Given the description of an element on the screen output the (x, y) to click on. 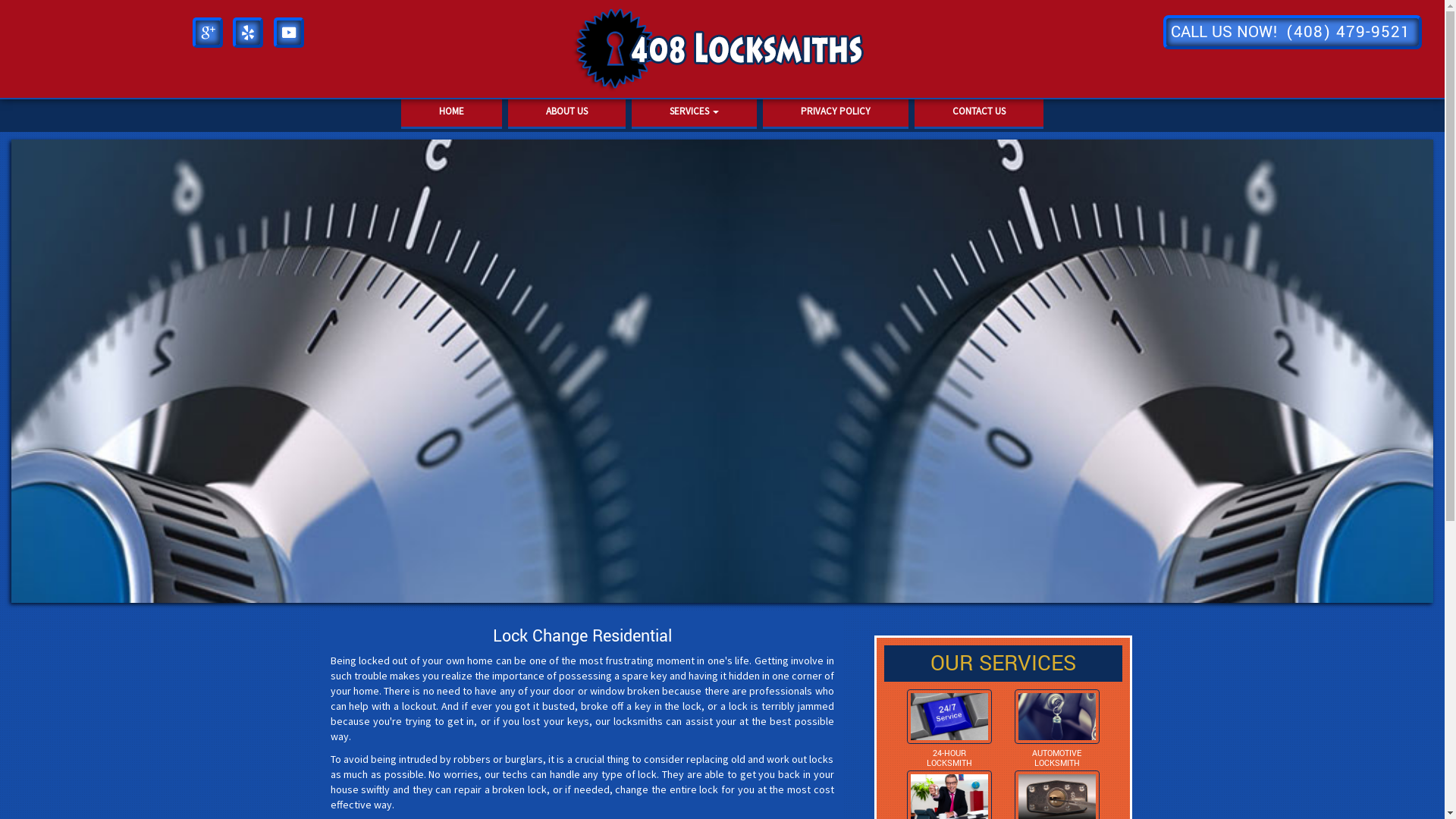
(408) 479-9521 Element type: text (1348, 31)
CONTACT US Element type: text (978, 112)
Google Plus Element type: hover (207, 29)
Youtube Element type: hover (288, 29)
24-HOUR
LOCKSMITH Element type: text (949, 757)
SERVICES Element type: text (693, 112)
HOME Element type: text (451, 112)
PRIVACY POLICY Element type: text (835, 112)
ABOUT US Element type: text (566, 112)
Yelp Element type: hover (247, 29)
AUTOMOTIVE
LOCKSMITH Element type: text (1056, 757)
